Given the description of an element on the screen output the (x, y) to click on. 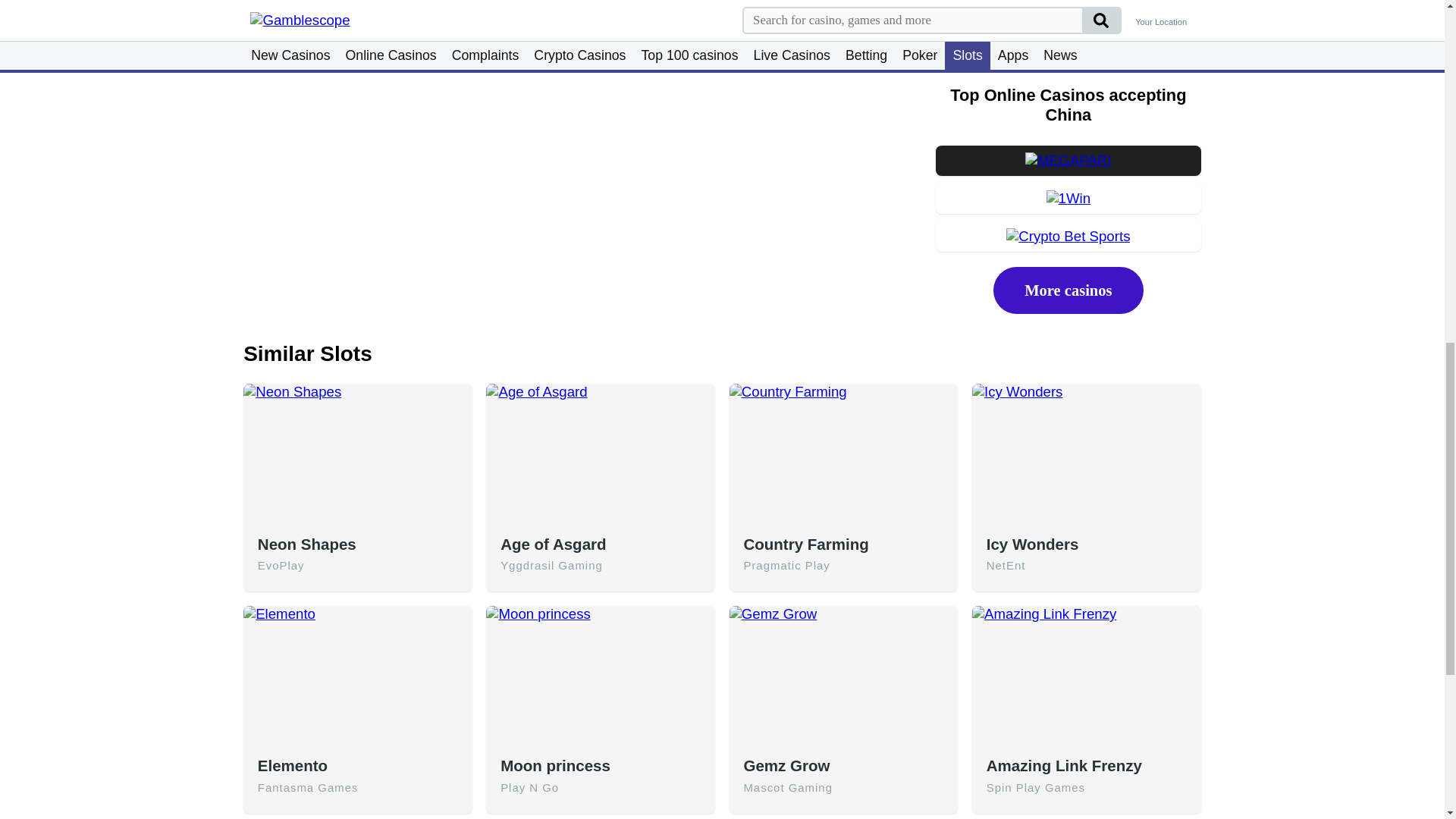
MEGAPARI (1067, 160)
Age of Asgard (600, 455)
1Win (1068, 198)
Country Farming (843, 455)
Moon princess (600, 678)
Crypto Bet Sports (1067, 236)
Gemz Grow (843, 678)
Neon Shapes (357, 455)
Elemento (357, 678)
Amazing Link Frenzy (1086, 678)
